Given the description of an element on the screen output the (x, y) to click on. 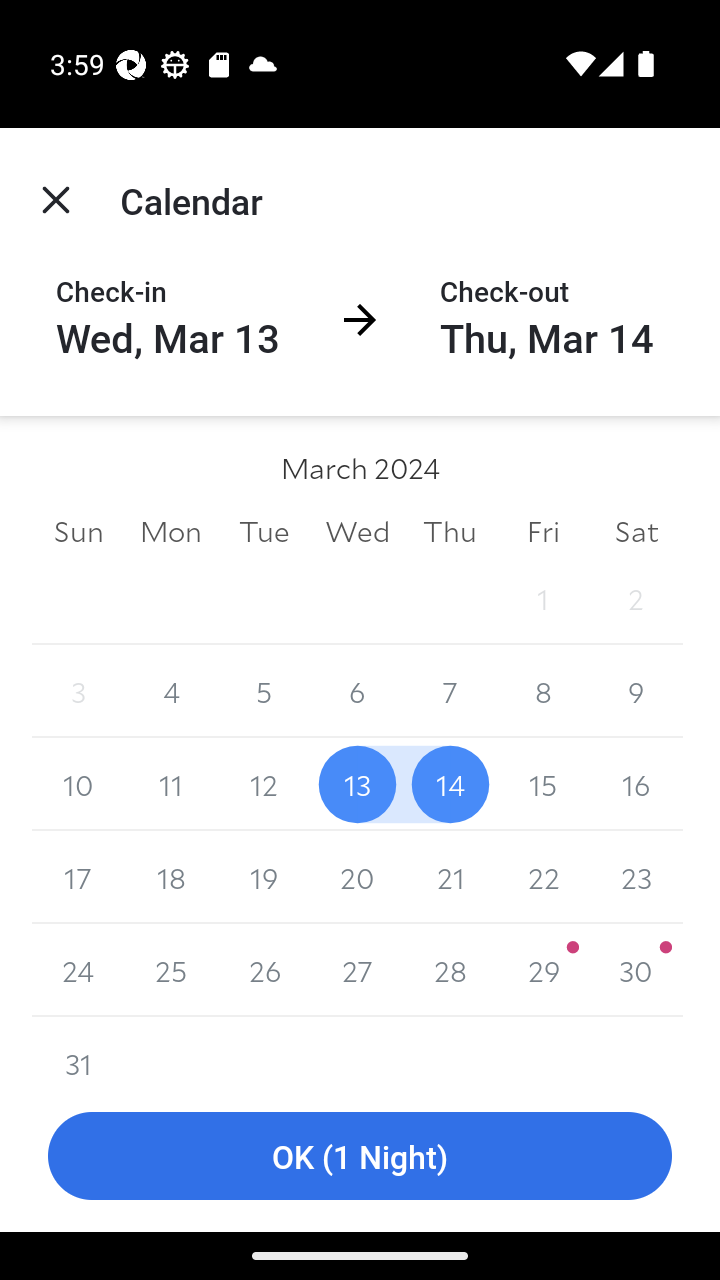
Sun (78, 530)
Mon (171, 530)
Tue (264, 530)
Wed (357, 530)
Thu (449, 530)
Fri (542, 530)
Sat (636, 530)
1 1 March 2024 (542, 598)
2 2 March 2024 (636, 598)
3 3 March 2024 (78, 691)
4 4 March 2024 (171, 691)
5 5 March 2024 (264, 691)
6 6 March 2024 (357, 691)
7 7 March 2024 (449, 691)
8 8 March 2024 (542, 691)
9 9 March 2024 (636, 691)
10 10 March 2024 (78, 784)
11 11 March 2024 (171, 784)
12 12 March 2024 (264, 784)
13 13 March 2024 (357, 784)
14 14 March 2024 (449, 784)
15 15 March 2024 (542, 784)
16 16 March 2024 (636, 784)
17 17 March 2024 (78, 877)
18 18 March 2024 (171, 877)
19 19 March 2024 (264, 877)
20 20 March 2024 (357, 877)
21 21 March 2024 (449, 877)
22 22 March 2024 (542, 877)
23 23 March 2024 (636, 877)
24 24 March 2024 (78, 970)
25 25 March 2024 (171, 970)
26 26 March 2024 (264, 970)
27 27 March 2024 (357, 970)
28 28 March 2024 (449, 970)
29 29 March 2024 (542, 970)
30 30 March 2024 (636, 970)
31 31 March 2024 (78, 1048)
OK (1 Night) (359, 1156)
